Given the description of an element on the screen output the (x, y) to click on. 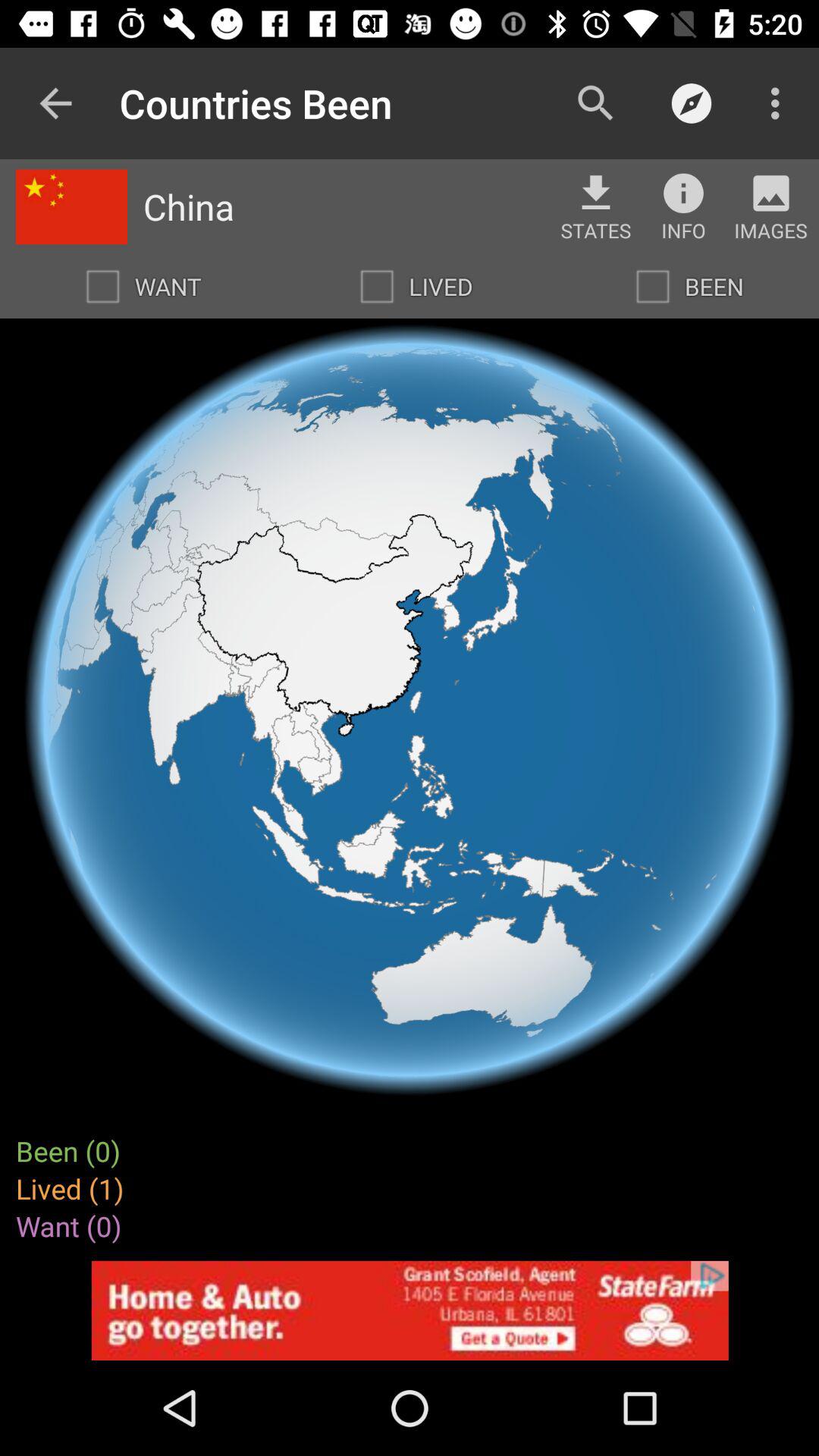
advertisement link (409, 1310)
